Given the description of an element on the screen output the (x, y) to click on. 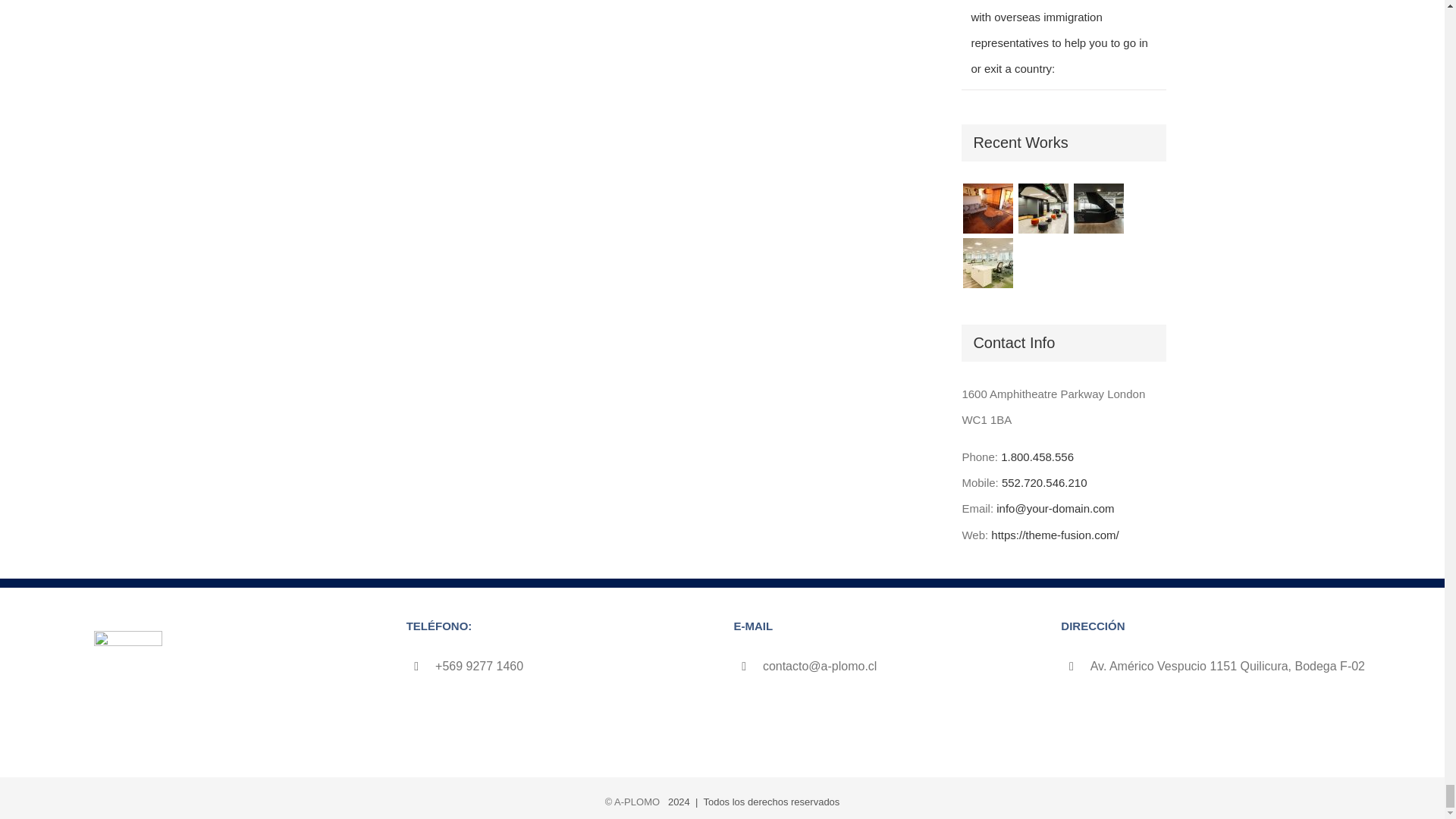
Vital Apoquindo (986, 207)
PUNTO TICKET (1043, 207)
Willis Towers Watson (1099, 207)
EVERIS Chile (986, 262)
